Given the description of an element on the screen output the (x, y) to click on. 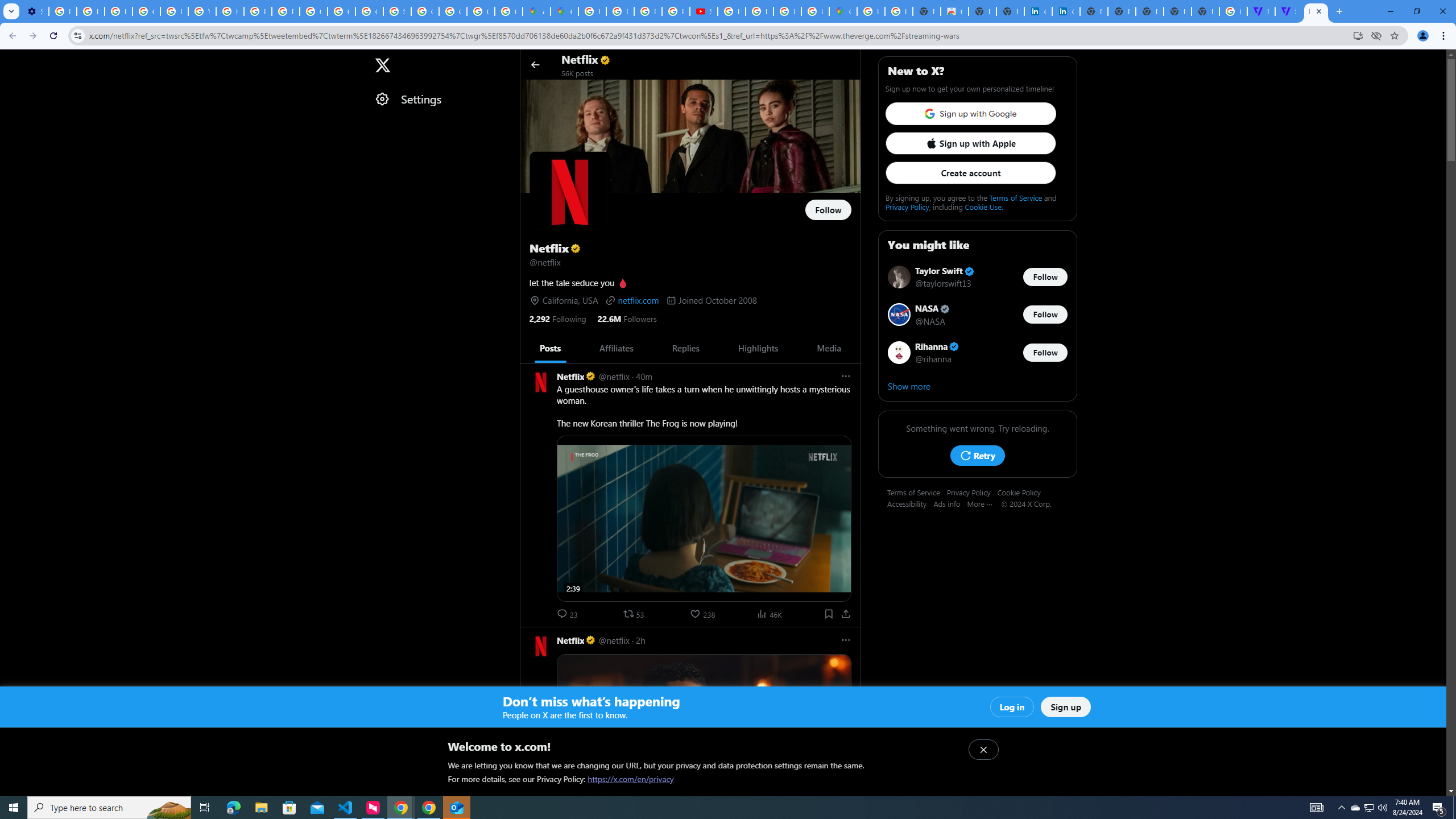
Sign in - Google Accounts (397, 11)
Show more (977, 386)
Sign up with Apple (970, 142)
Accessibility (909, 503)
Sign up (1065, 706)
Settings (441, 99)
More (983, 503)
Rihanna Verified account (937, 345)
Google Account Help (146, 11)
